Given the description of an element on the screen output the (x, y) to click on. 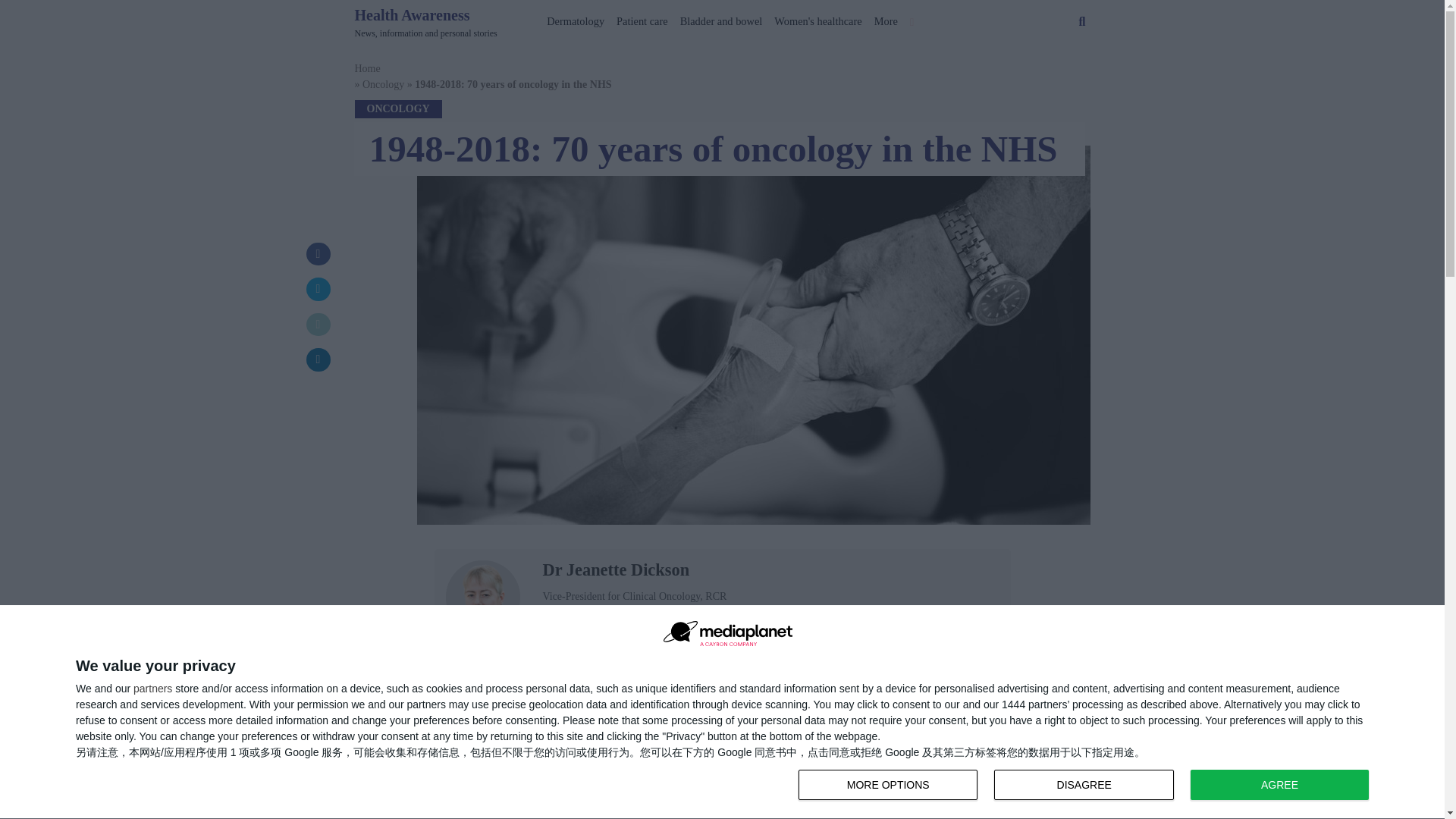
partners (152, 688)
Women's healthcare (817, 18)
Dermatology (575, 18)
AGREE (1279, 784)
DISAGREE (426, 22)
More (1083, 784)
Bladder and bowel (885, 18)
MORE OPTIONS (1086, 785)
